Given the description of an element on the screen output the (x, y) to click on. 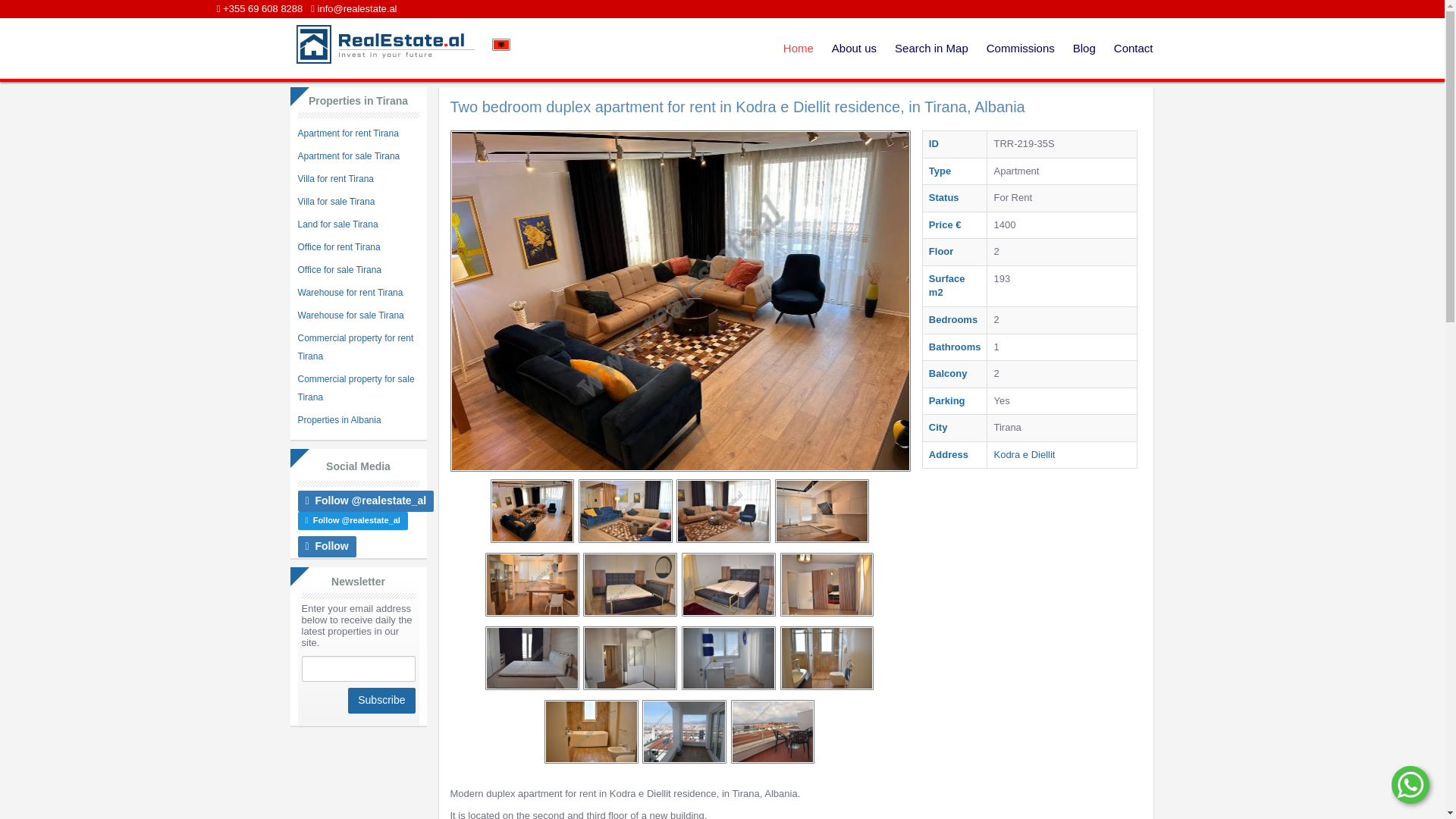
Image (723, 510)
Image (684, 731)
Kodra e Diellit (1023, 454)
Image (532, 510)
Search in Map (930, 48)
Image (625, 510)
Image (630, 584)
Image (826, 584)
Commissions (1020, 48)
Image (728, 658)
About us (853, 48)
Contact (1133, 48)
Image (630, 658)
ALflag (501, 44)
